Given the description of an element on the screen output the (x, y) to click on. 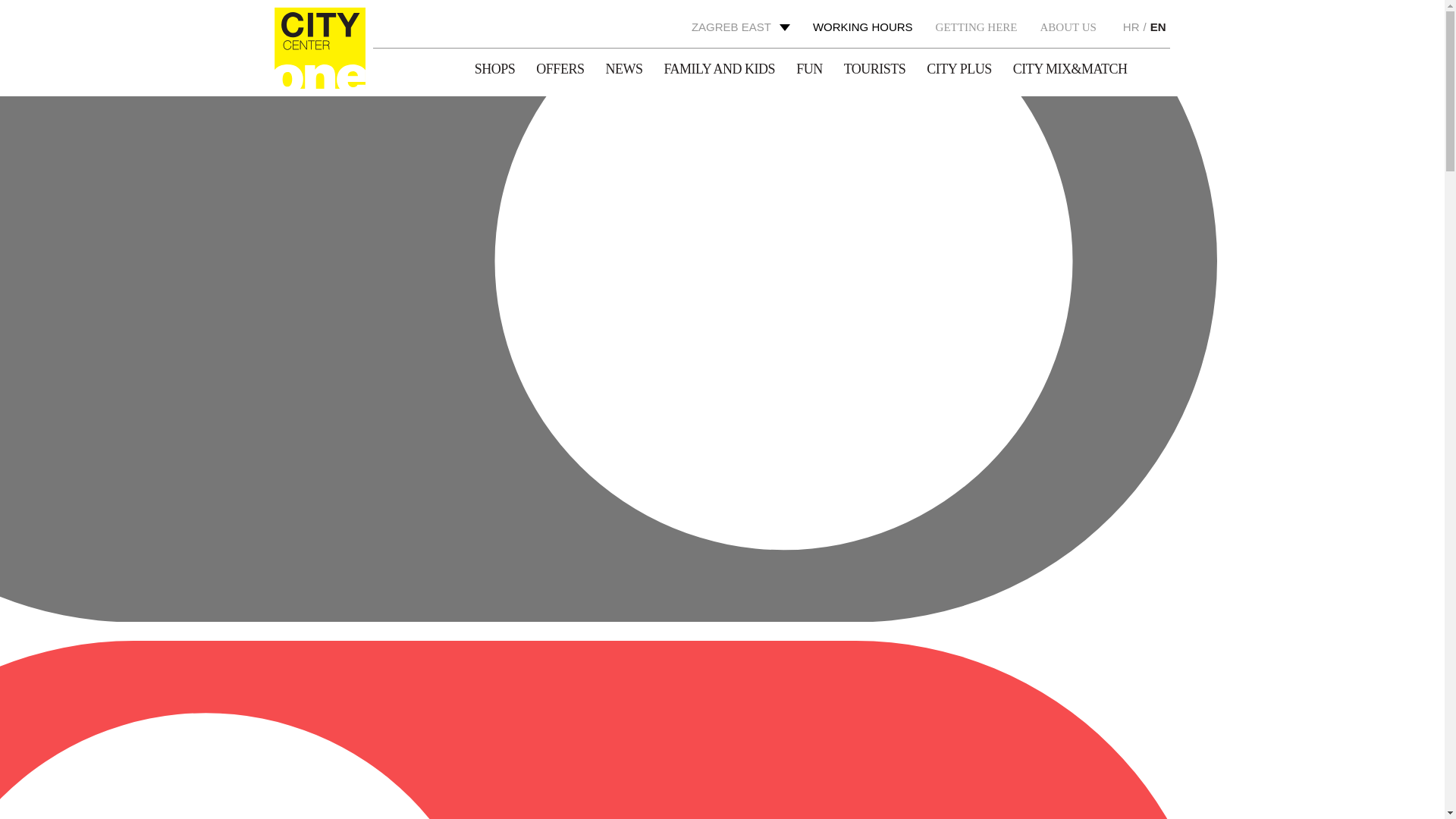
CINEPLEXX CINEMA (705, 206)
FUN (700, 162)
CITY PLUS (700, 357)
SERVICES (705, 435)
FAMILY PARKING (705, 101)
YOUR OPINION COUNTS (705, 647)
ELECTRICAL VEHICLES CHARGING POINT (705, 506)
GETTING HERE (700, 763)
BABY ROOM (705, 66)
ABOUT US (700, 804)
